Given the description of an element on the screen output the (x, y) to click on. 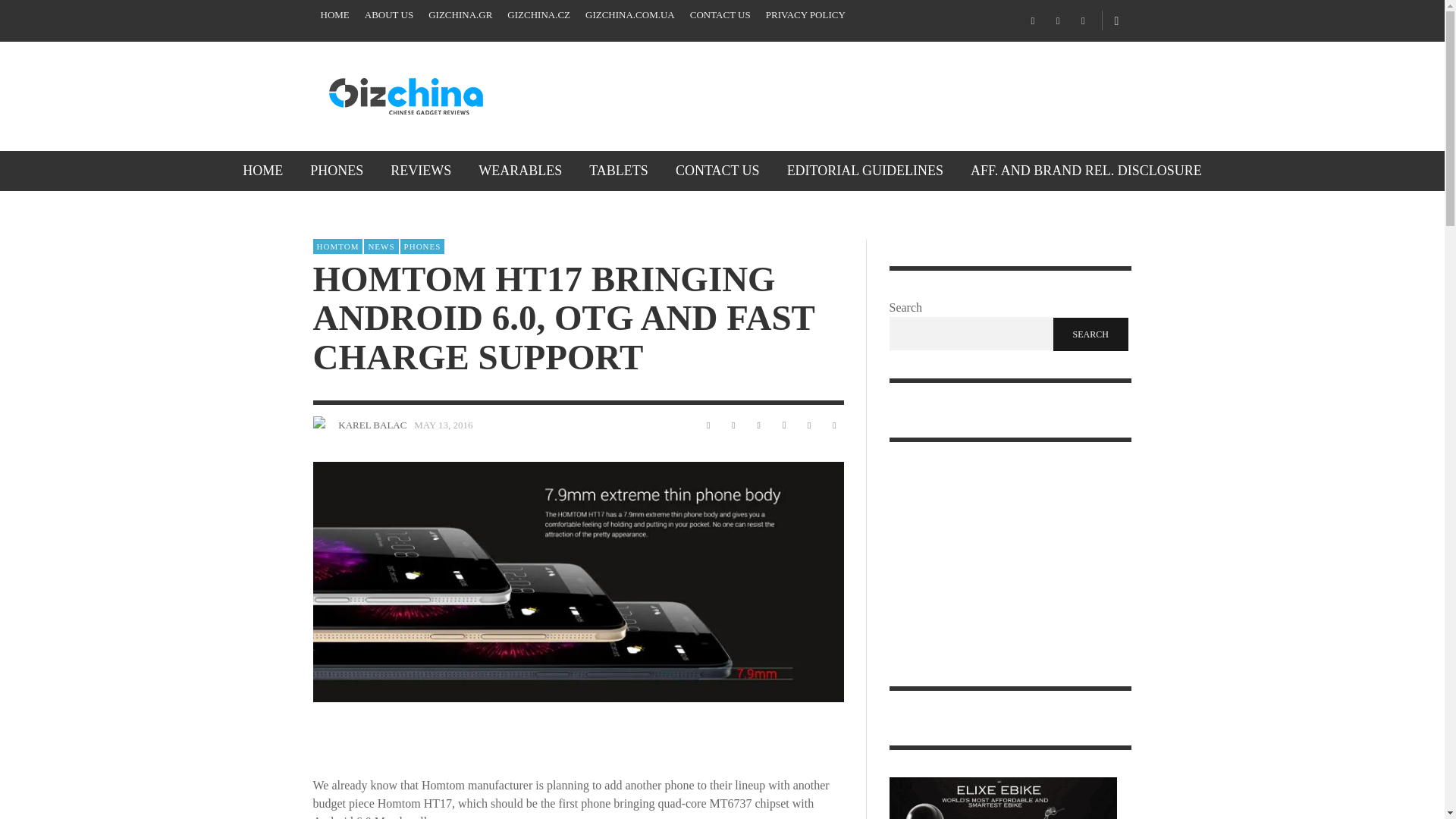
HOME (262, 170)
REVIEWS (420, 170)
ABOUT US (388, 15)
GIZCHINA.CZ (538, 15)
HOME (334, 15)
PRIVACY POLICY (805, 15)
GIZCHINA.COM.UA (630, 15)
PHONES (337, 170)
CONTACT US (720, 15)
GIZCHINA.GR (459, 15)
